Given the description of an element on the screen output the (x, y) to click on. 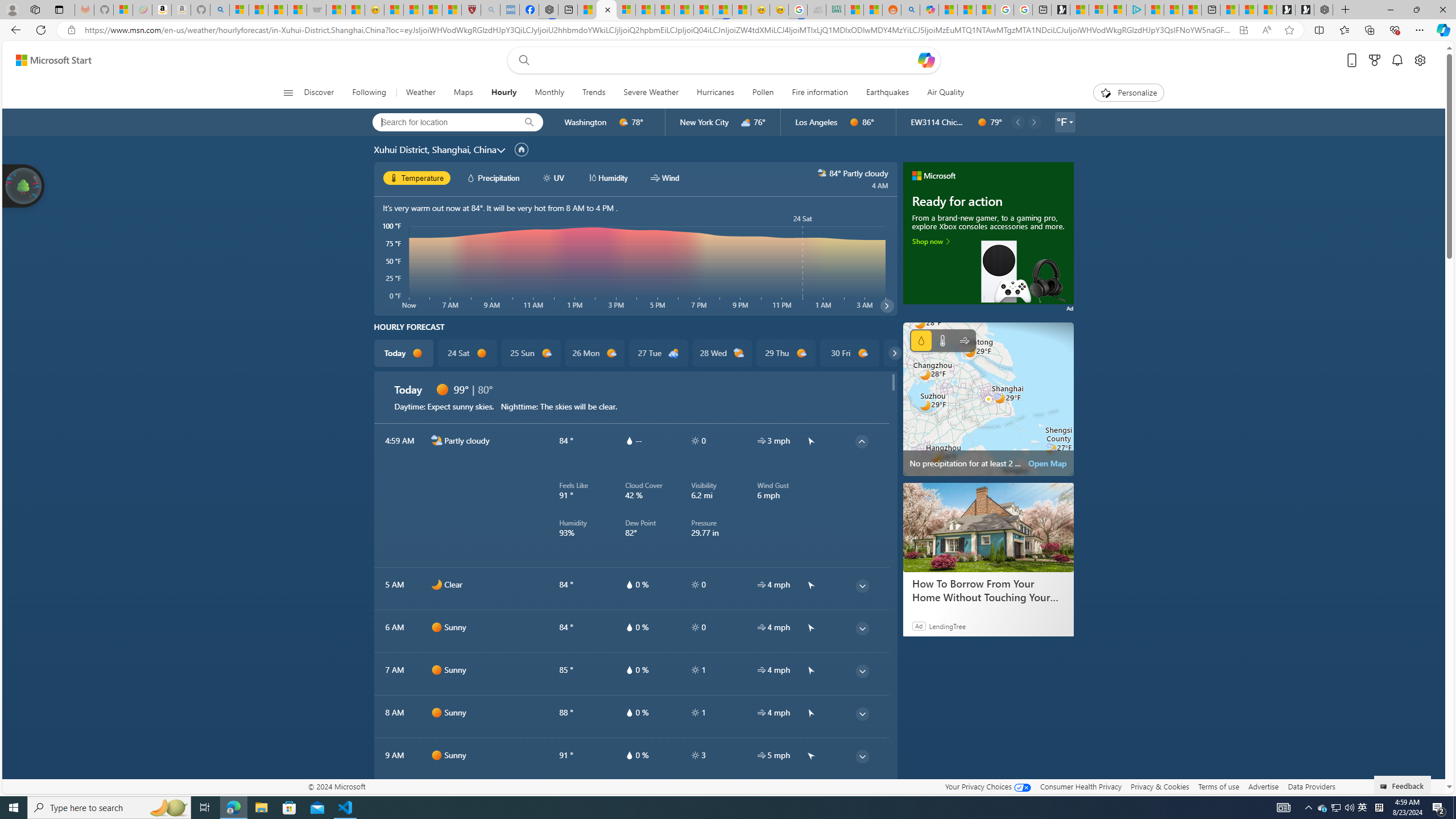
Privacy & Cookies (1160, 786)
Monthly (549, 92)
Data Providers (1311, 786)
30 Fri d1000 (849, 352)
